Given the description of an element on the screen output the (x, y) to click on. 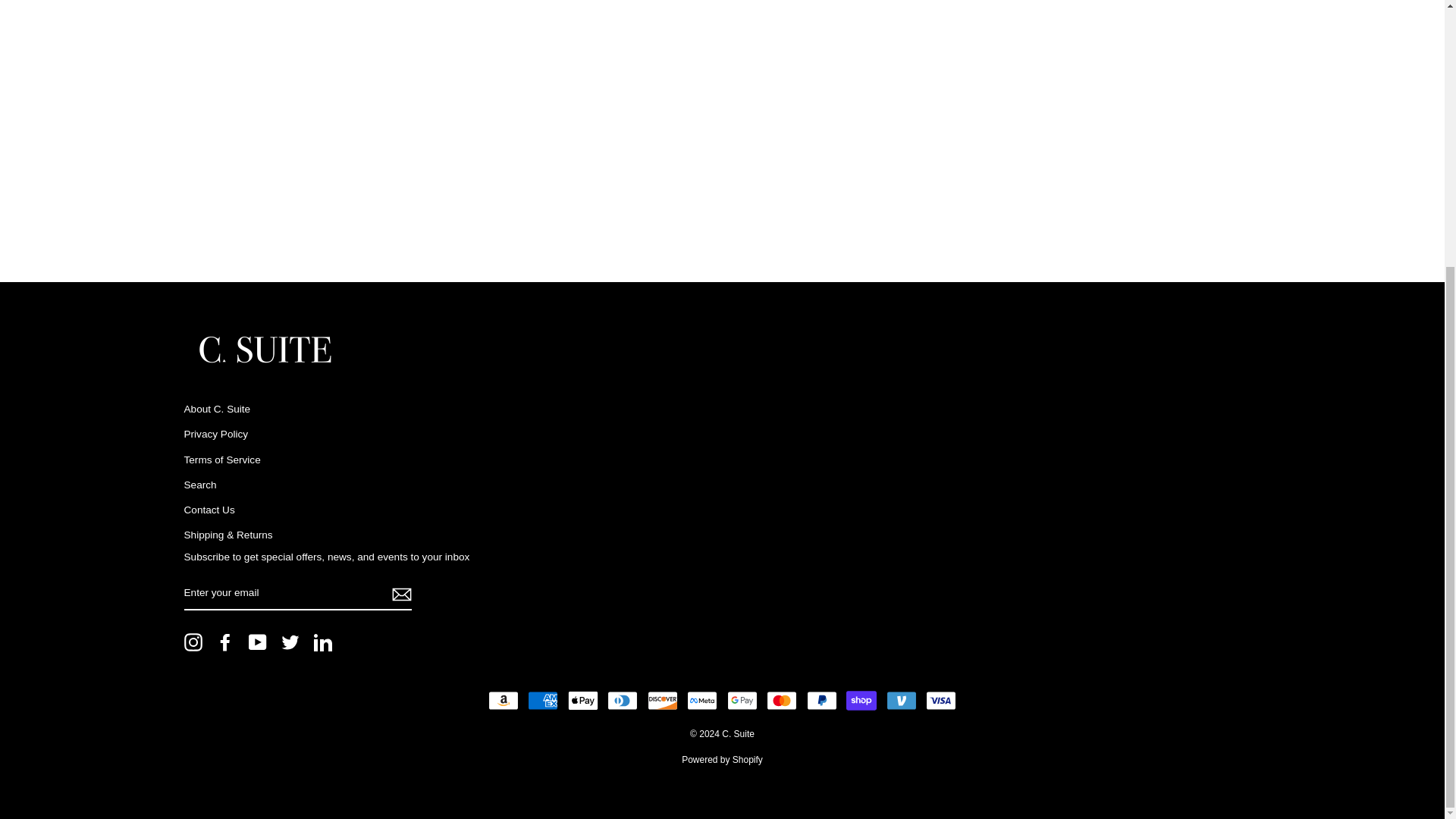
Diners Club (622, 700)
C. Suite on LinkedIn (322, 642)
C. Suite on YouTube (257, 642)
Apple Pay (582, 700)
American Express (542, 700)
Amazon (502, 700)
C. Suite on Instagram (192, 642)
Mastercard (781, 700)
Venmo (901, 700)
Meta Pay (702, 700)
Google Pay (741, 700)
Shop Pay (860, 700)
Discover (662, 700)
C. Suite on Twitter (290, 642)
C. Suite on Facebook (224, 642)
